Given the description of an element on the screen output the (x, y) to click on. 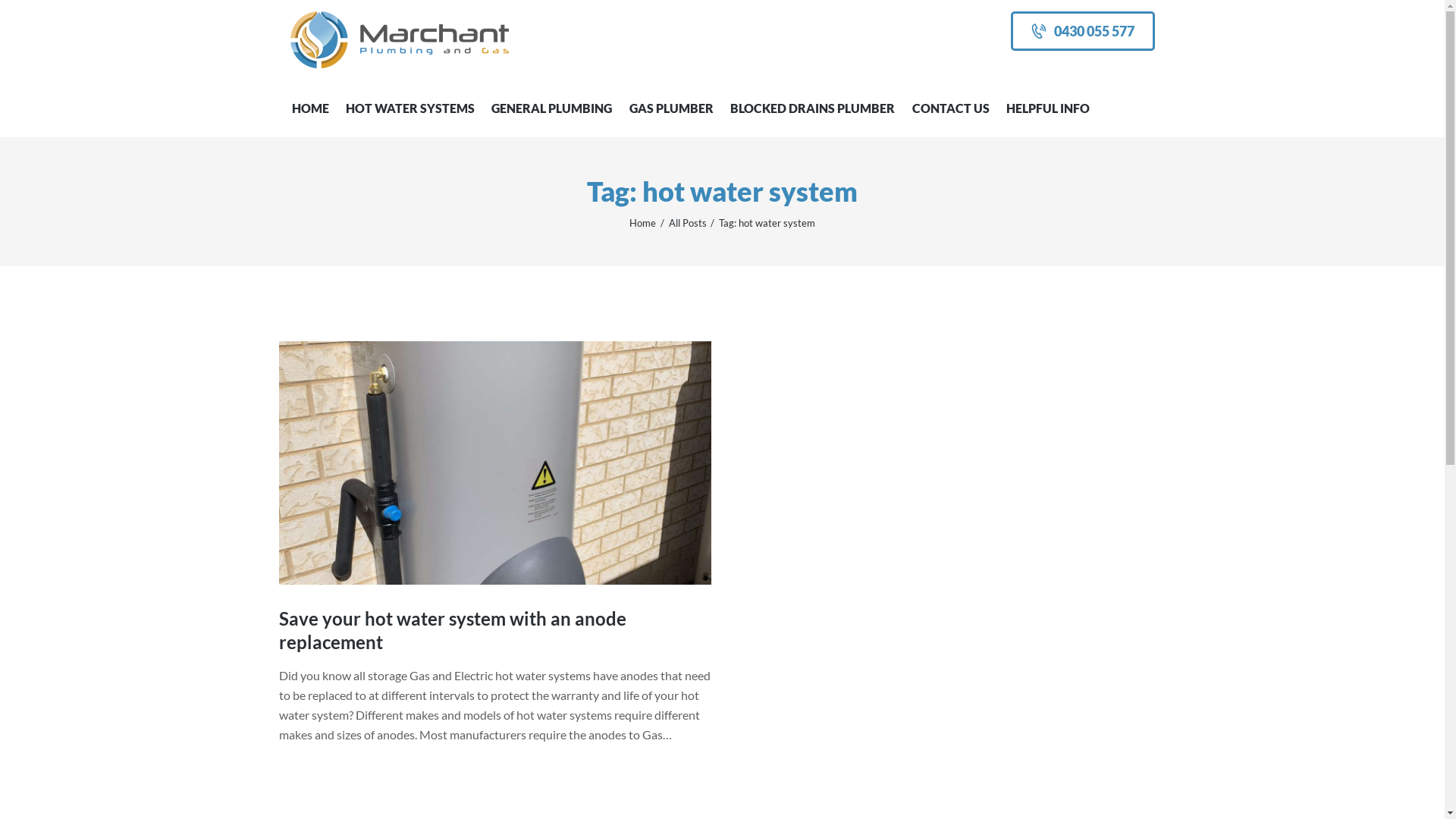
HELPFUL INFO Element type: text (1047, 108)
BLOCKED DRAINS PLUMBER Element type: text (812, 108)
Save your hot water system with an anode replacement Element type: text (495, 629)
GAS PLUMBER Element type: text (671, 108)
Home Element type: text (642, 223)
HOT WATER SYSTEMS Element type: text (410, 108)
All Posts Element type: text (687, 222)
0430 055 577 Element type: text (1082, 30)
CONTACT US Element type: text (950, 108)
HOME Element type: text (310, 108)
GENERAL PLUMBING Element type: text (551, 108)
